Given the description of an element on the screen output the (x, y) to click on. 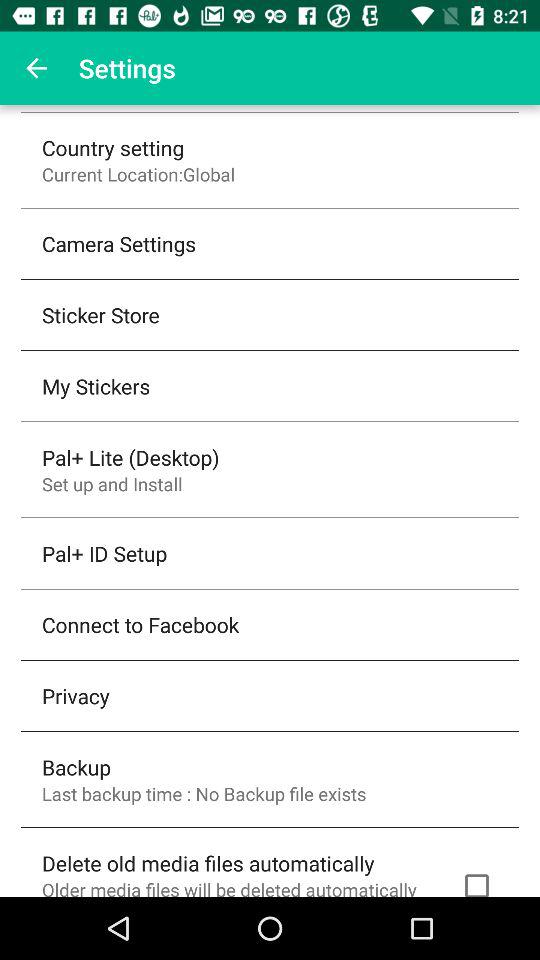
launch icon above country setting item (36, 68)
